Given the description of an element on the screen output the (x, y) to click on. 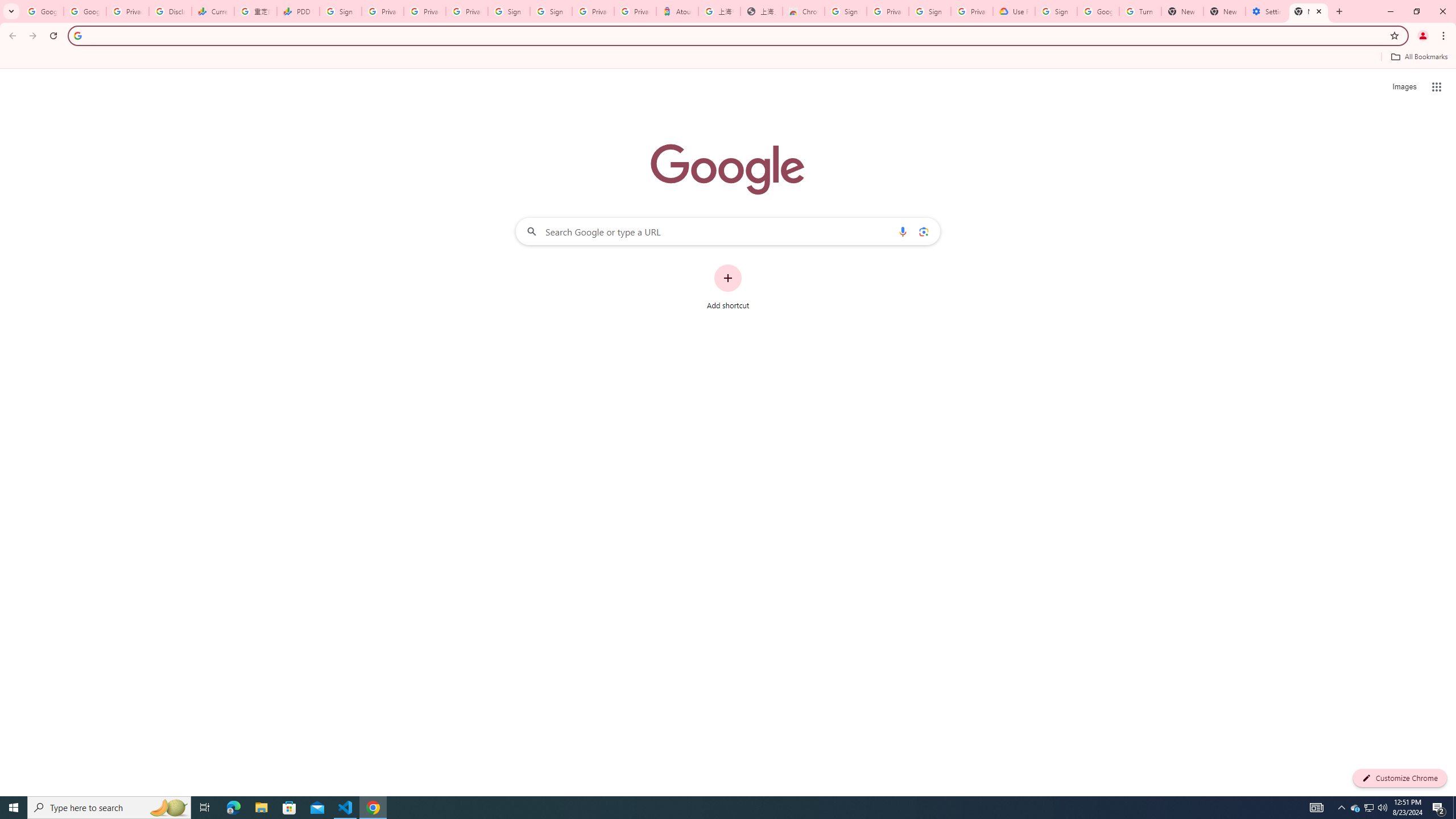
Privacy Checkup (424, 11)
